Given the description of an element on the screen output the (x, y) to click on. 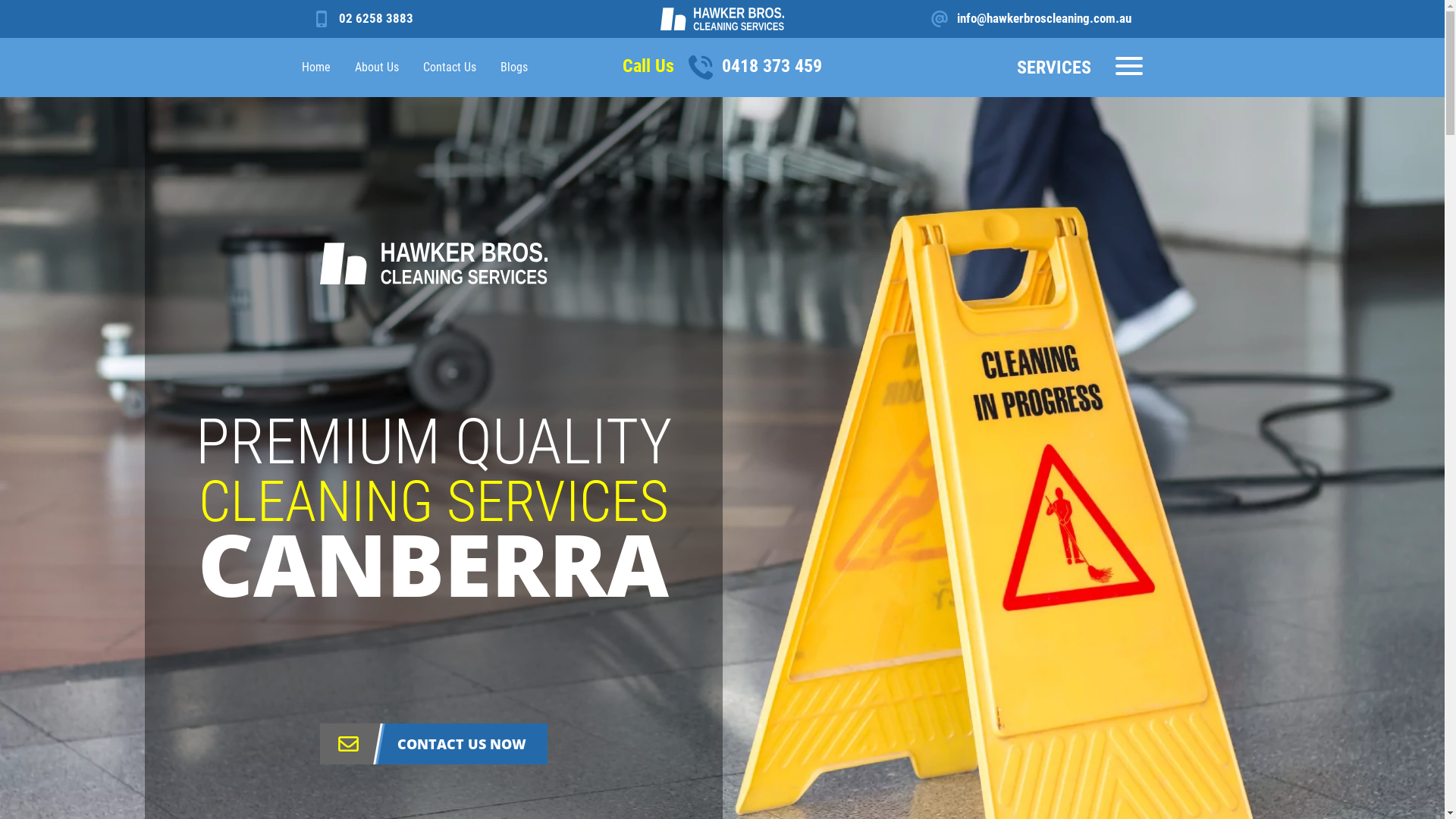
info@hawkerbroscleaning.com.au Element type: text (1030, 17)
02 6258 3883 Element type: text (362, 17)
Contact Us Element type: text (449, 66)
CONTACT US NOW Element type: text (433, 743)
Home Element type: hover (722, 14)
0418 373 459 Element type: text (750, 65)
Home Element type: text (315, 66)
About Us Element type: text (376, 66)
SERVICES Element type: text (1079, 67)
